Given the description of an element on the screen output the (x, y) to click on. 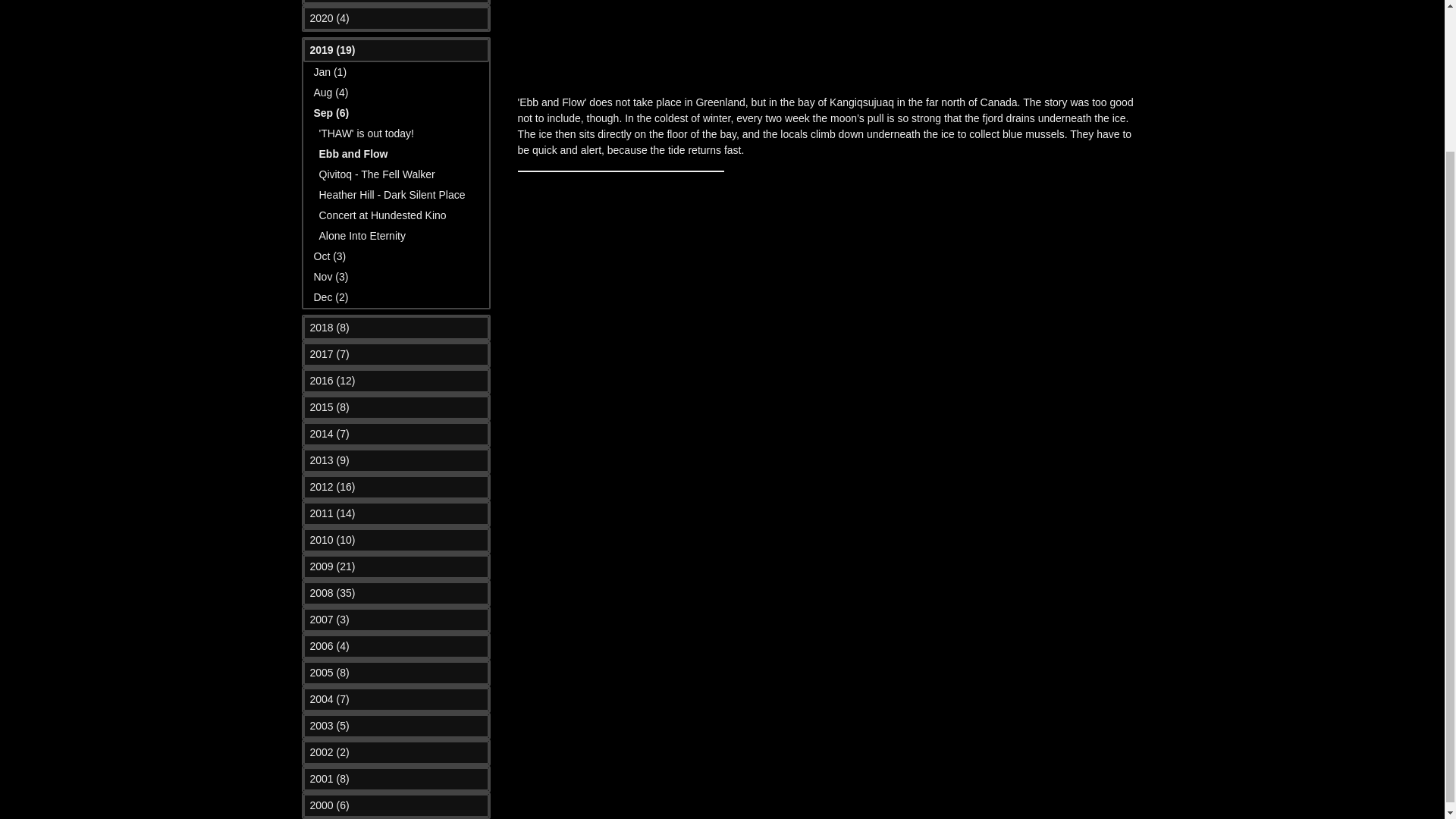
Heather Hill - Dark Silent Place (391, 194)
'THAW' is out today! (365, 133)
Concert at Hundested Kino (381, 215)
Alone Into Eternity (361, 235)
Ebb and Flow (352, 153)
Qivitoq - The Fell Walker (375, 174)
